Given the description of an element on the screen output the (x, y) to click on. 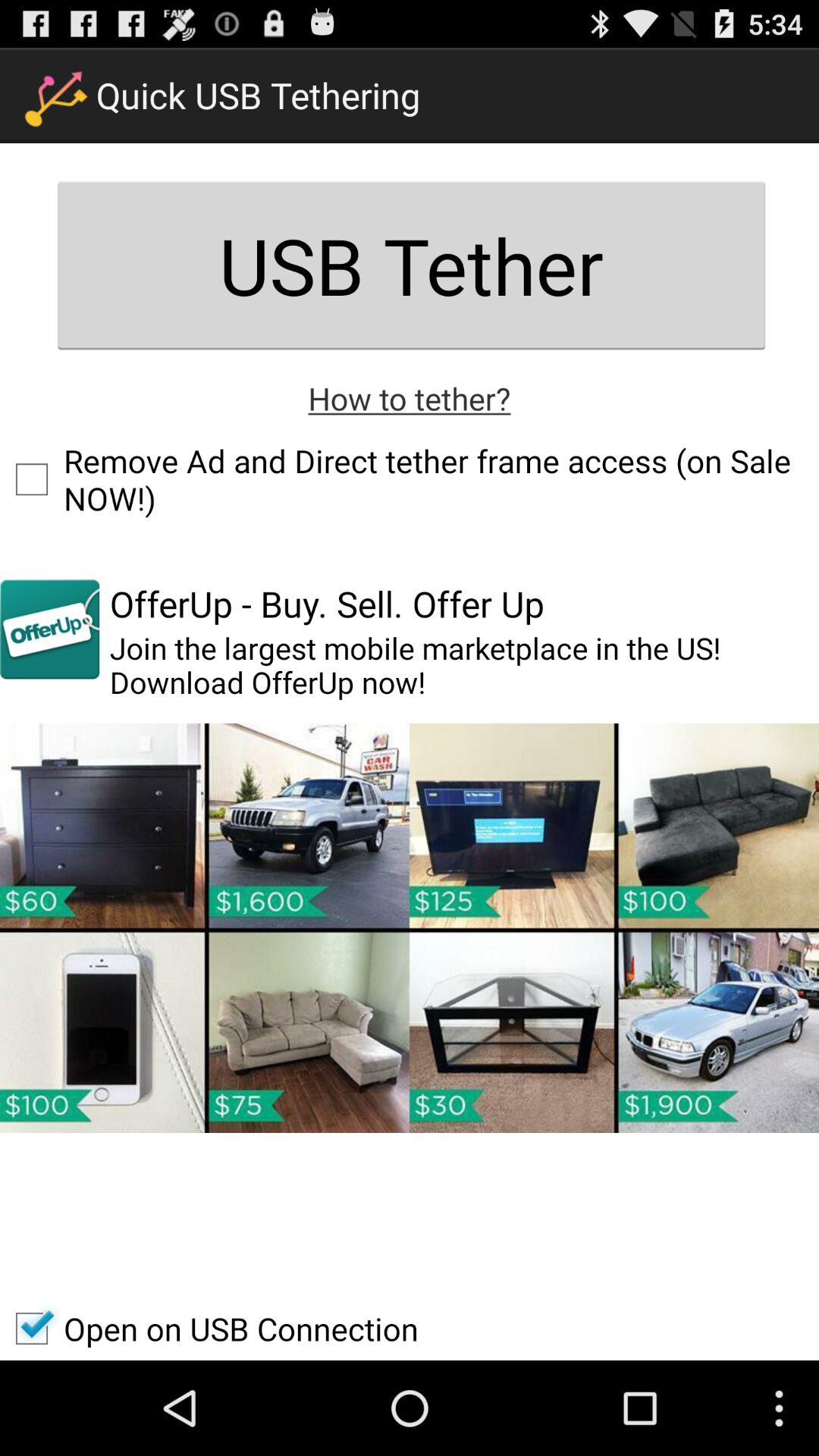
click icon on the left (49, 629)
